Given the description of an element on the screen output the (x, y) to click on. 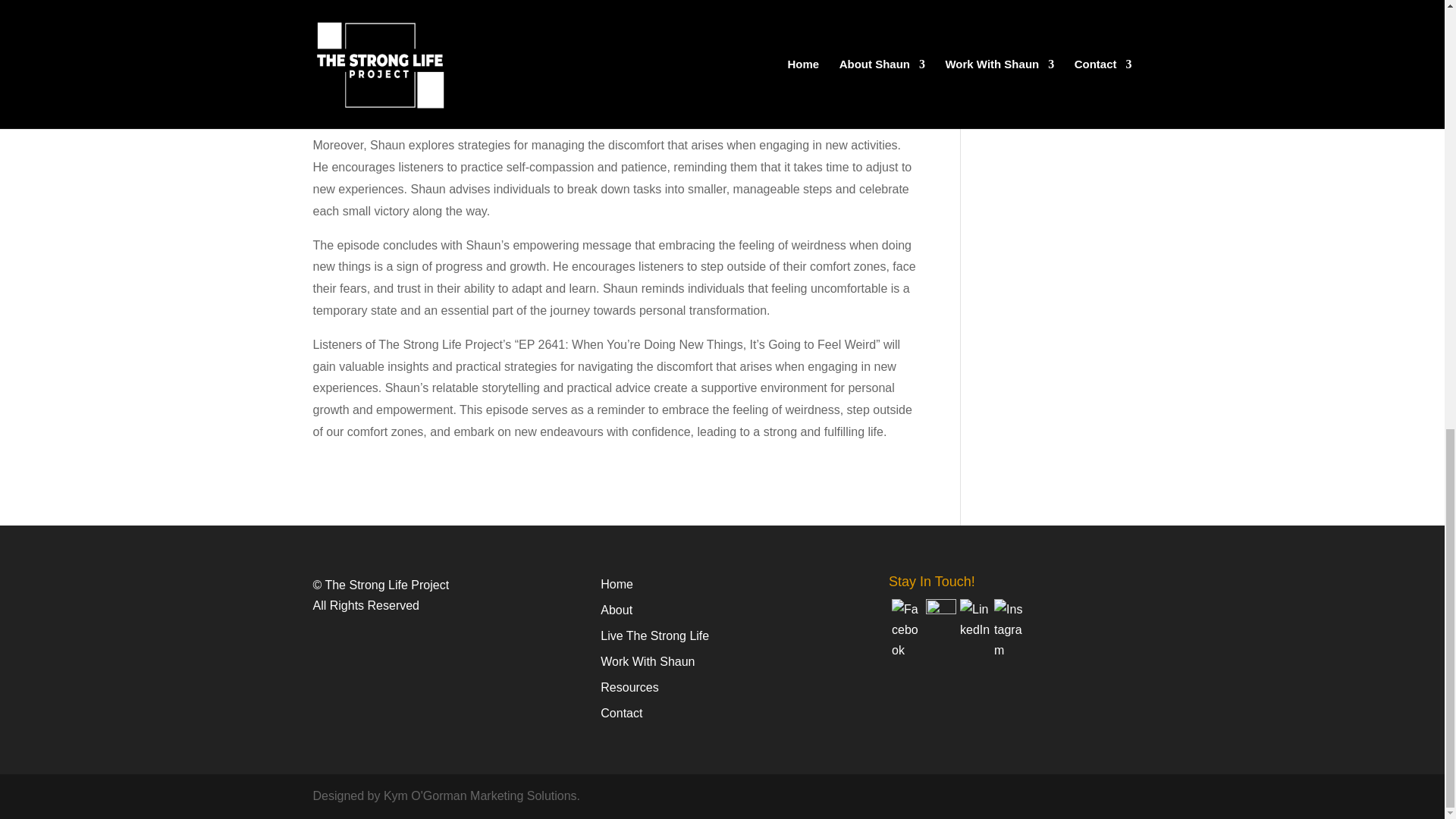
Home (616, 584)
About (615, 609)
Resources (628, 686)
Work With Shaun (646, 661)
Contact (620, 712)
Live The Strong Life (654, 635)
